Given the description of an element on the screen output the (x, y) to click on. 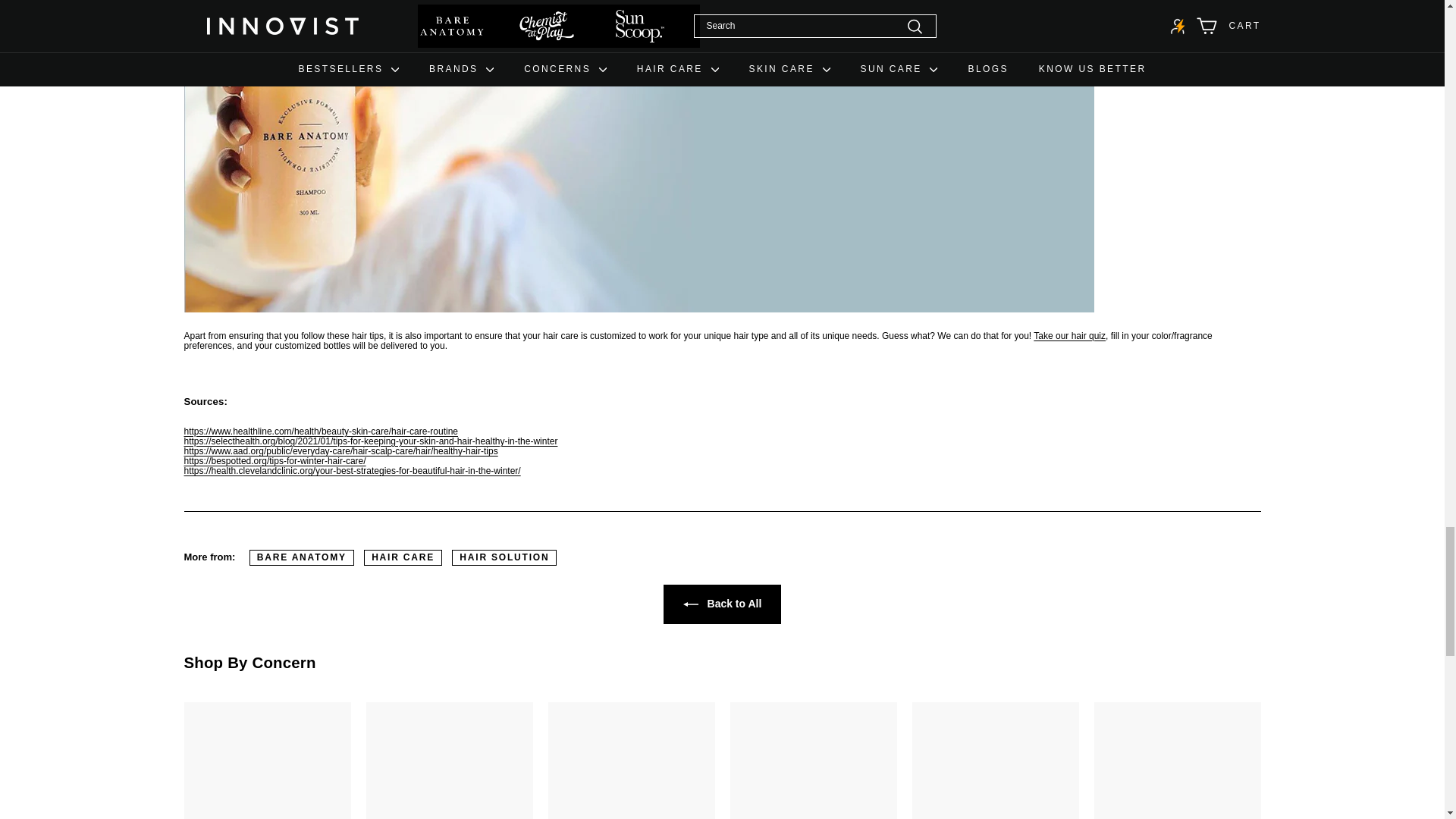
icon-left-arrow (690, 604)
